Given the description of an element on the screen output the (x, y) to click on. 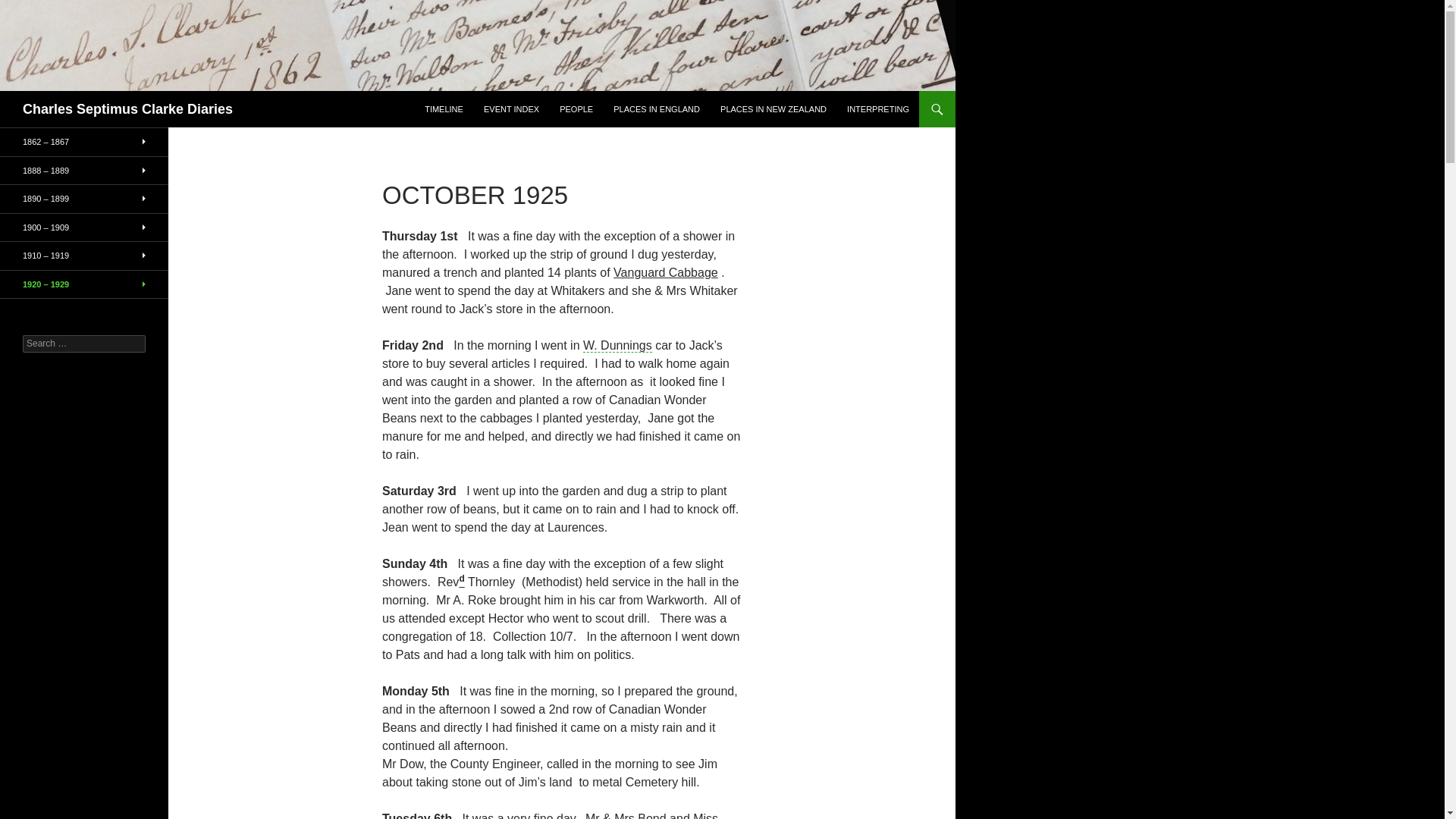
INTERPRETING (878, 108)
PLACES IN ENGLAND (656, 108)
EVENT INDEX (511, 108)
W. Dunnings (617, 345)
PEOPLE (576, 108)
PLACES IN NEW ZEALAND (773, 108)
TIMELINE (442, 108)
Charles Septimus Clarke Diaries (127, 108)
